Given the description of an element on the screen output the (x, y) to click on. 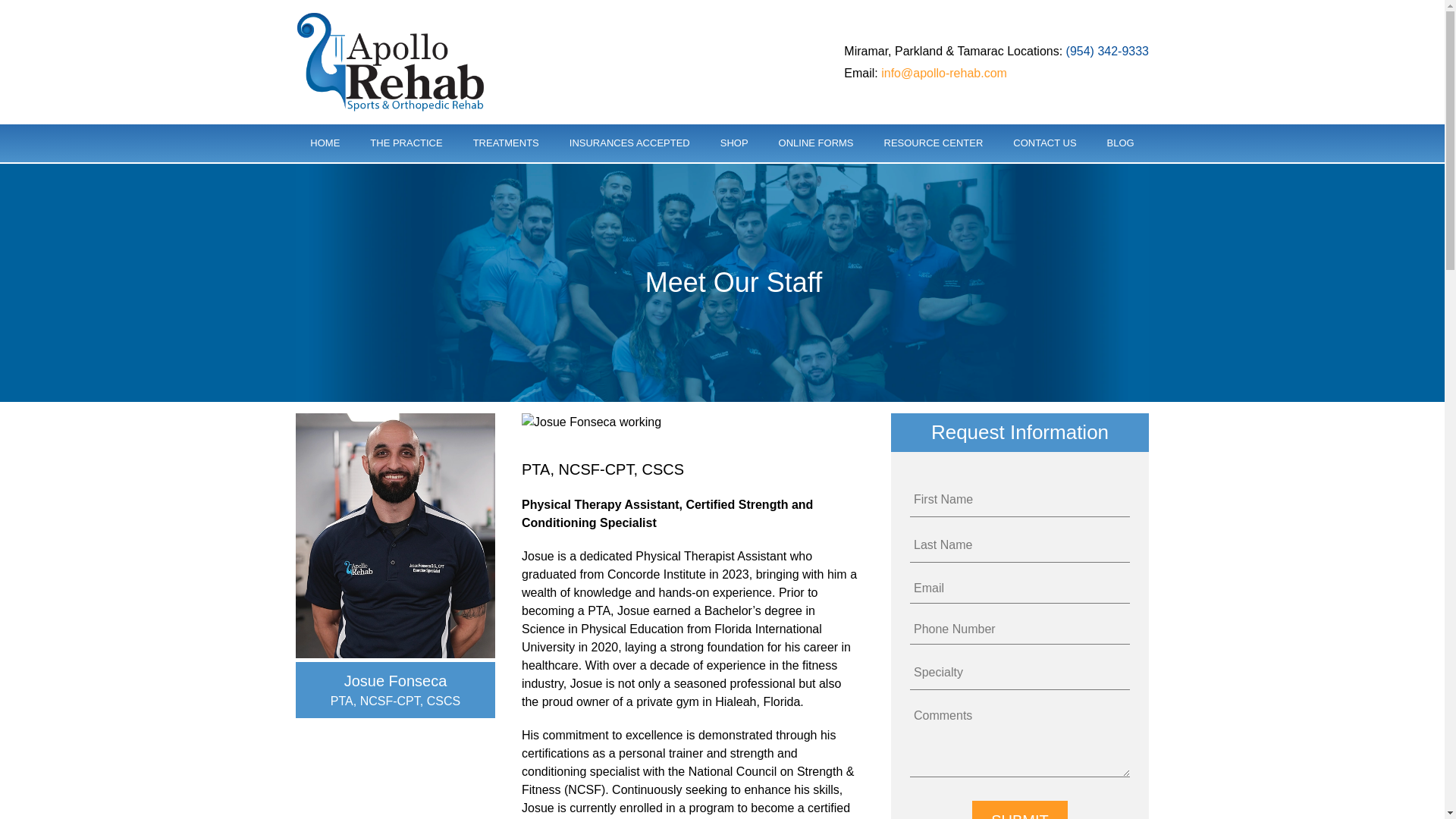
THE PRACTICE (406, 143)
CONTACT US (1043, 143)
ONLINE FORMS (815, 143)
RESOURCE CENTER (933, 143)
INSURANCES ACCEPTED (629, 143)
SHOP (733, 143)
HOME (325, 143)
Josue Fonseca (395, 534)
TREATMENTS (506, 143)
Submit (1019, 809)
